Given the description of an element on the screen output the (x, y) to click on. 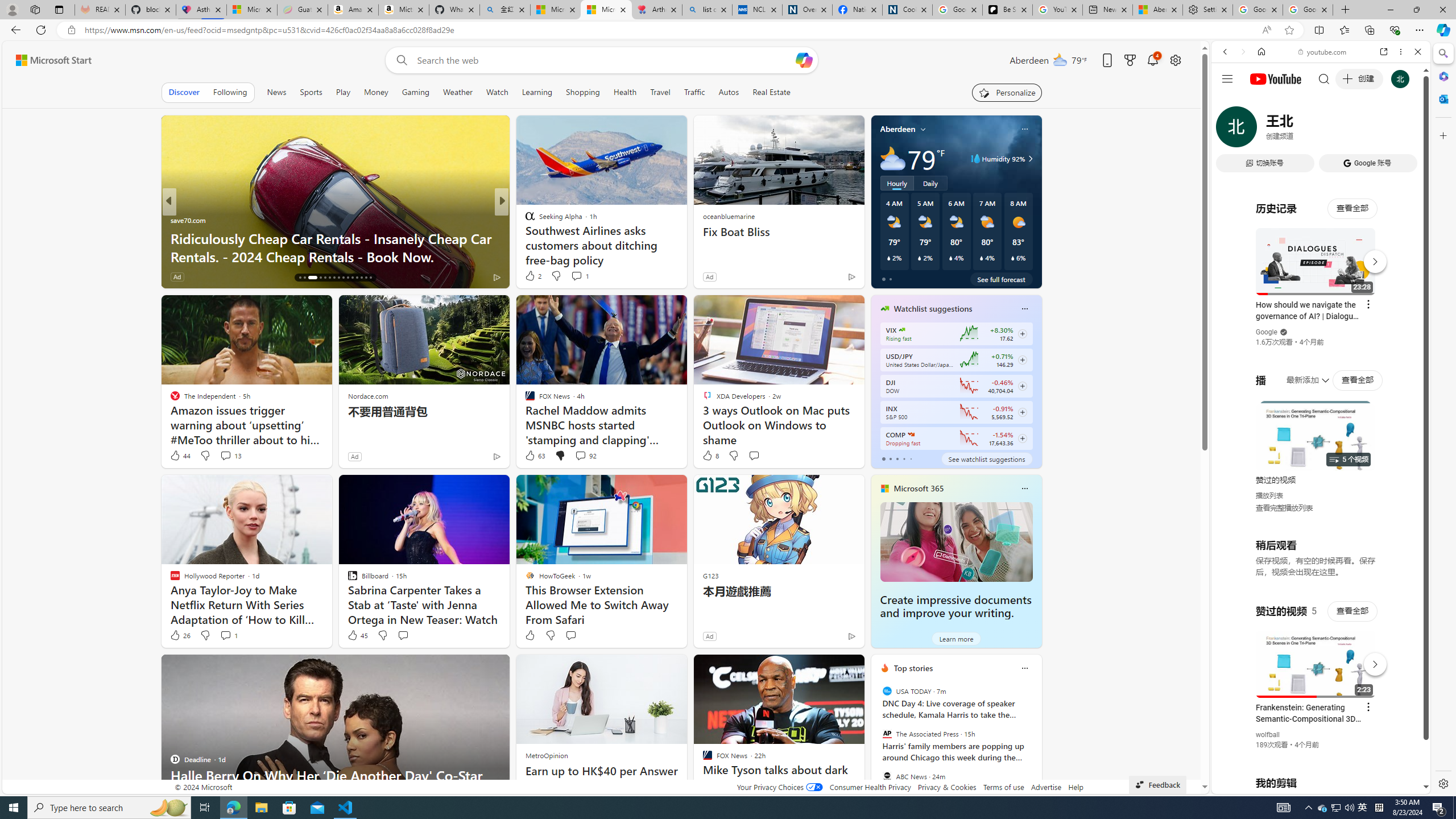
View comments 1 Comment (228, 634)
SB Nation (524, 219)
310 Like (532, 276)
Health (624, 92)
Real Estate (771, 92)
Open Copilot (803, 59)
Privacy & Cookies (946, 786)
Gaming (415, 92)
VIDEOS (1300, 130)
Search Filter, IMAGES (1262, 129)
